Given the description of an element on the screen output the (x, y) to click on. 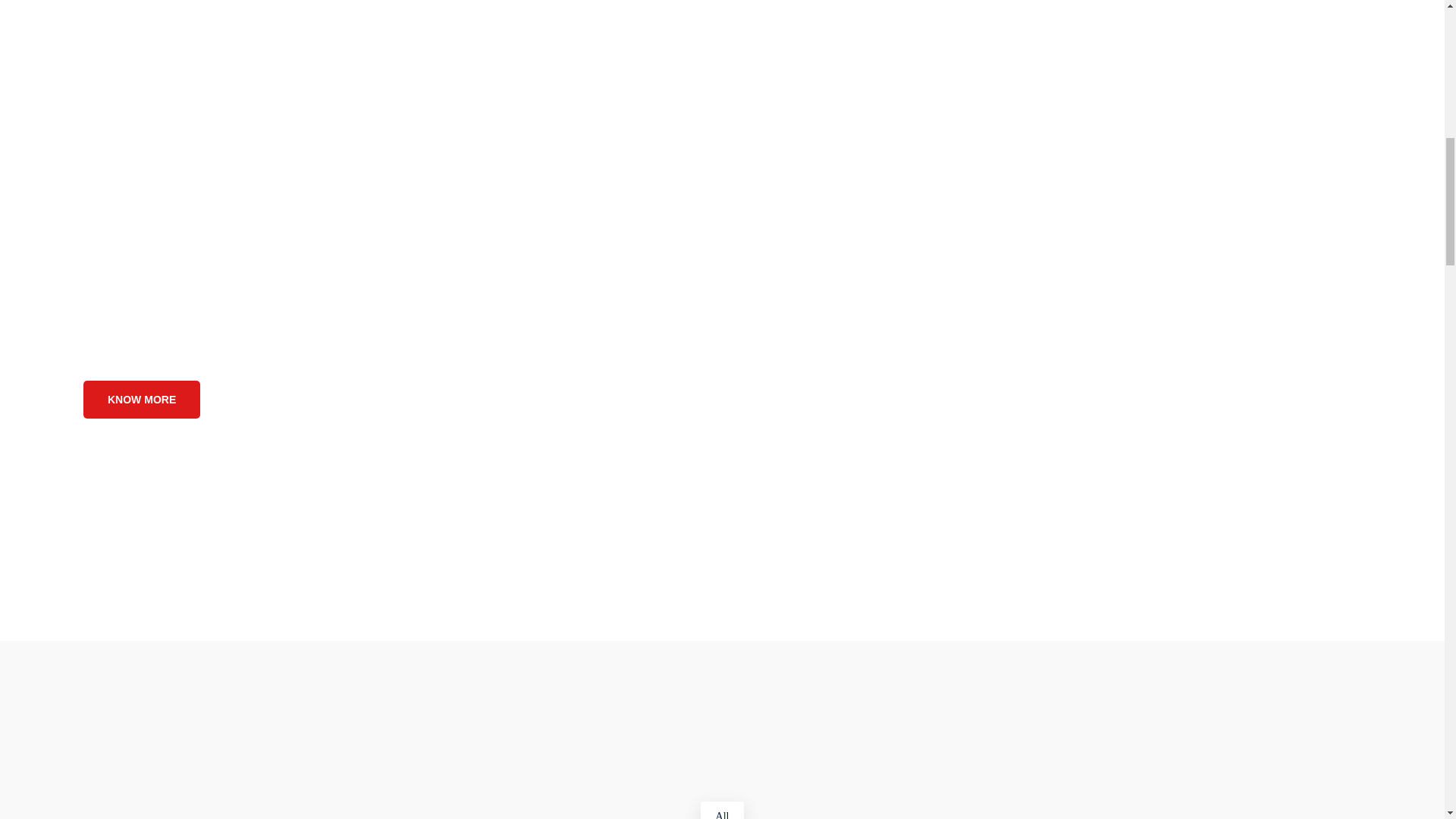
KNOW MORE (141, 399)
